Given the description of an element on the screen output the (x, y) to click on. 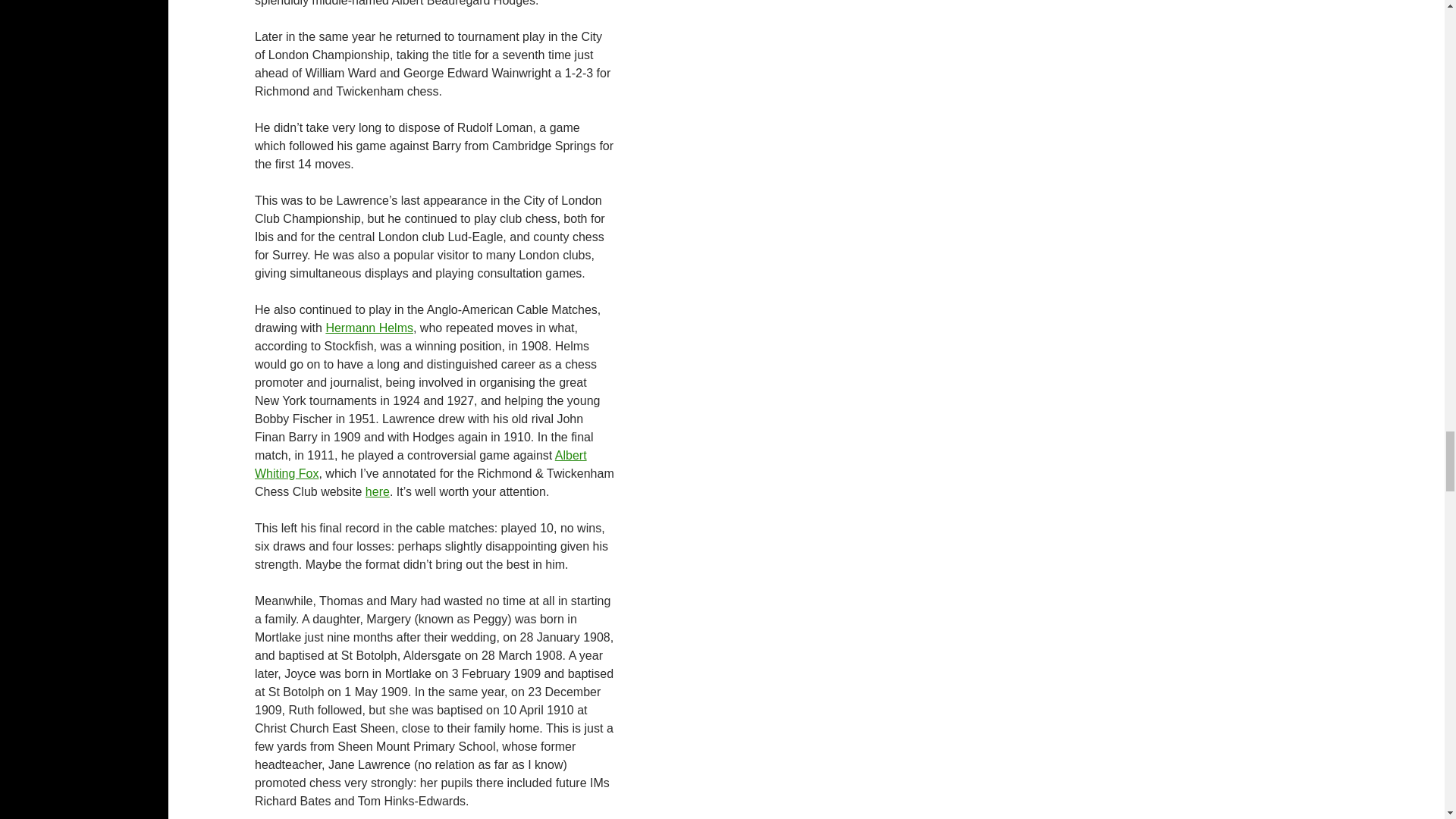
Hermann Helms (368, 327)
here (377, 491)
Albert Whiting Fox (420, 463)
